Given the description of an element on the screen output the (x, y) to click on. 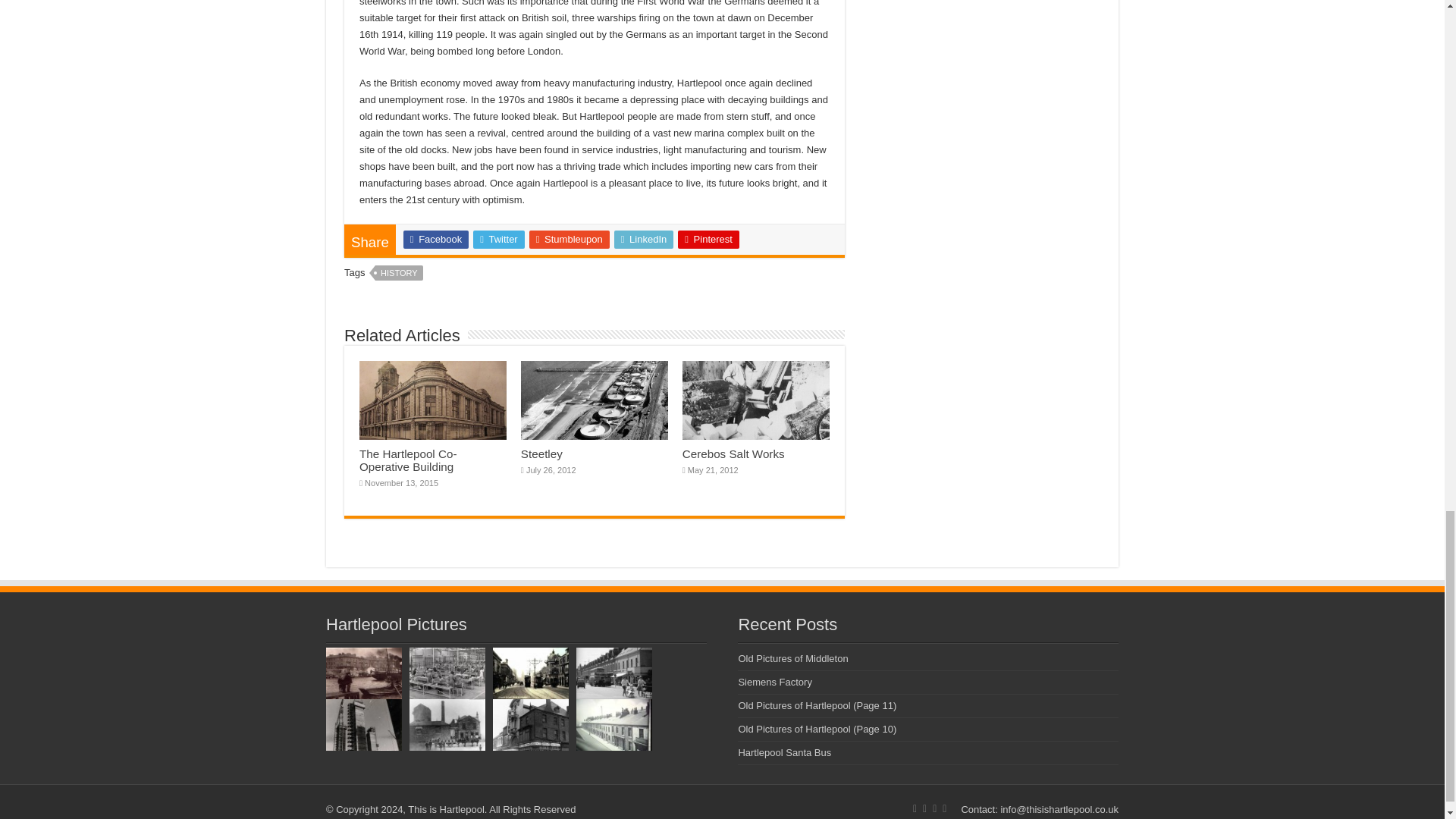
LinkedIn (644, 239)
Facebook (435, 239)
Twitter (498, 239)
HISTORY (399, 272)
Stumbleupon (569, 239)
Pinterest (708, 239)
